Given the description of an element on the screen output the (x, y) to click on. 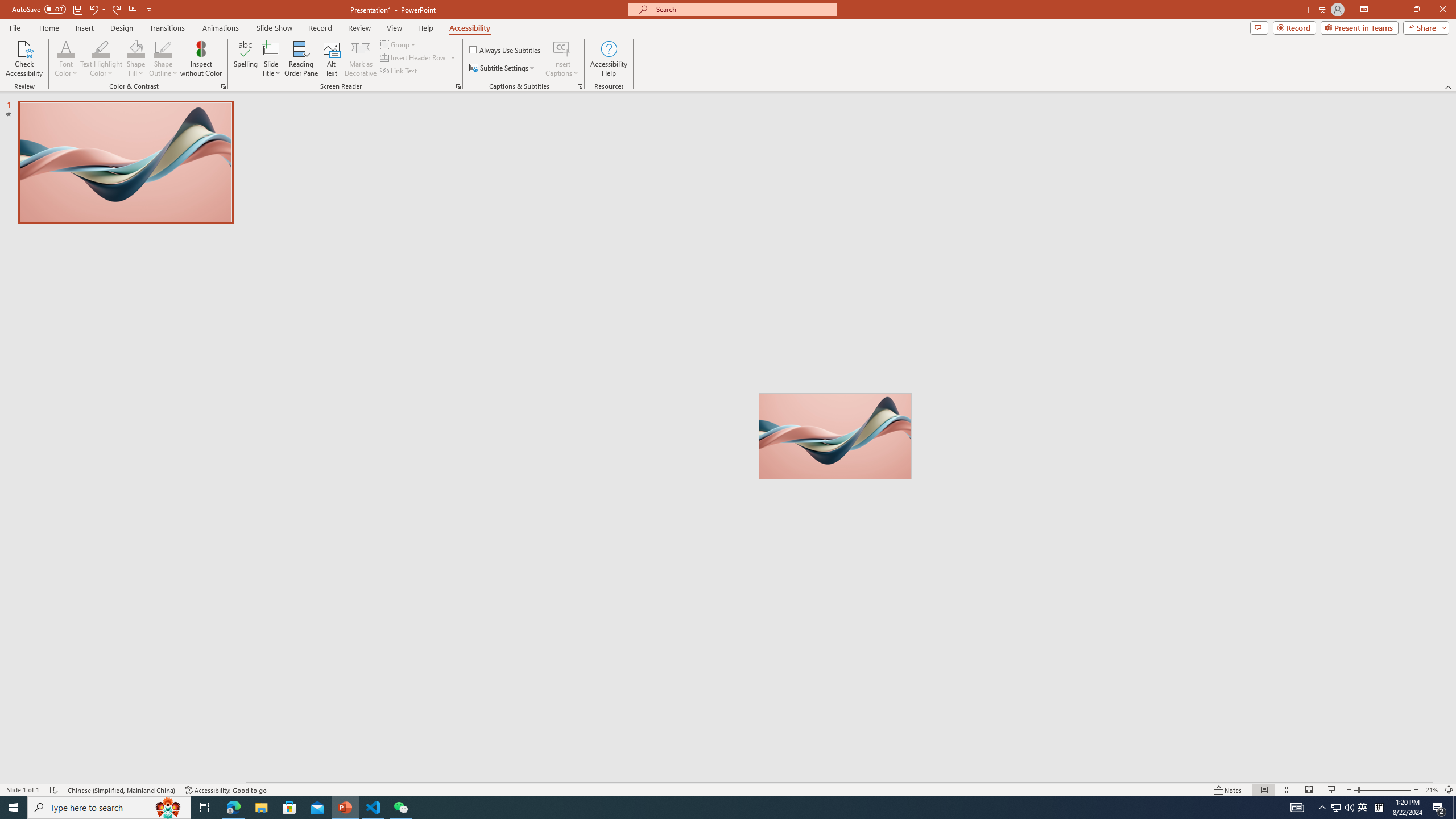
Captions & Subtitles (580, 85)
Group (398, 44)
Mark as Decorative (360, 58)
Spelling... (245, 58)
